Given the description of an element on the screen output the (x, y) to click on. 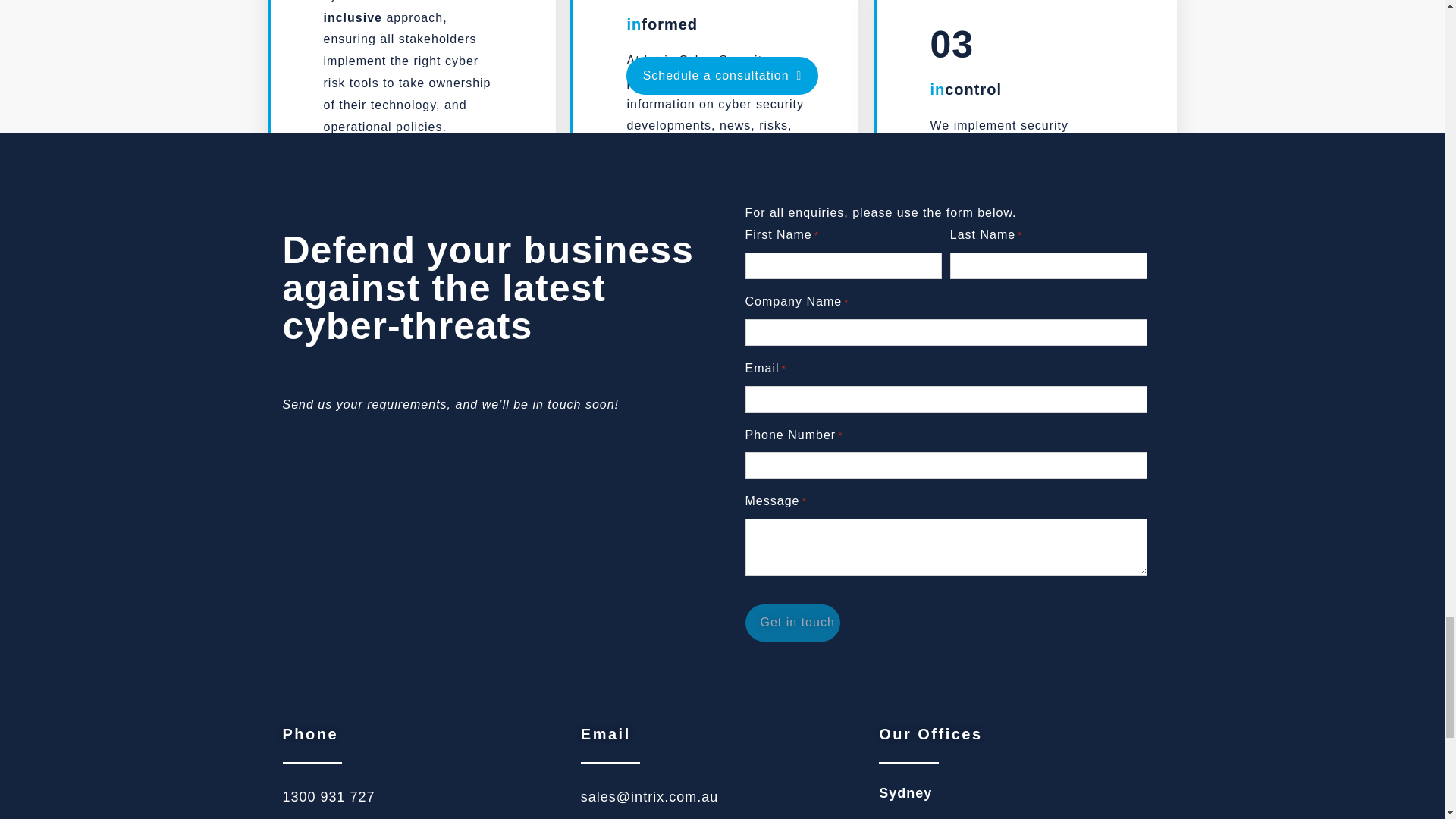
Get in touch (792, 622)
